Given the description of an element on the screen output the (x, y) to click on. 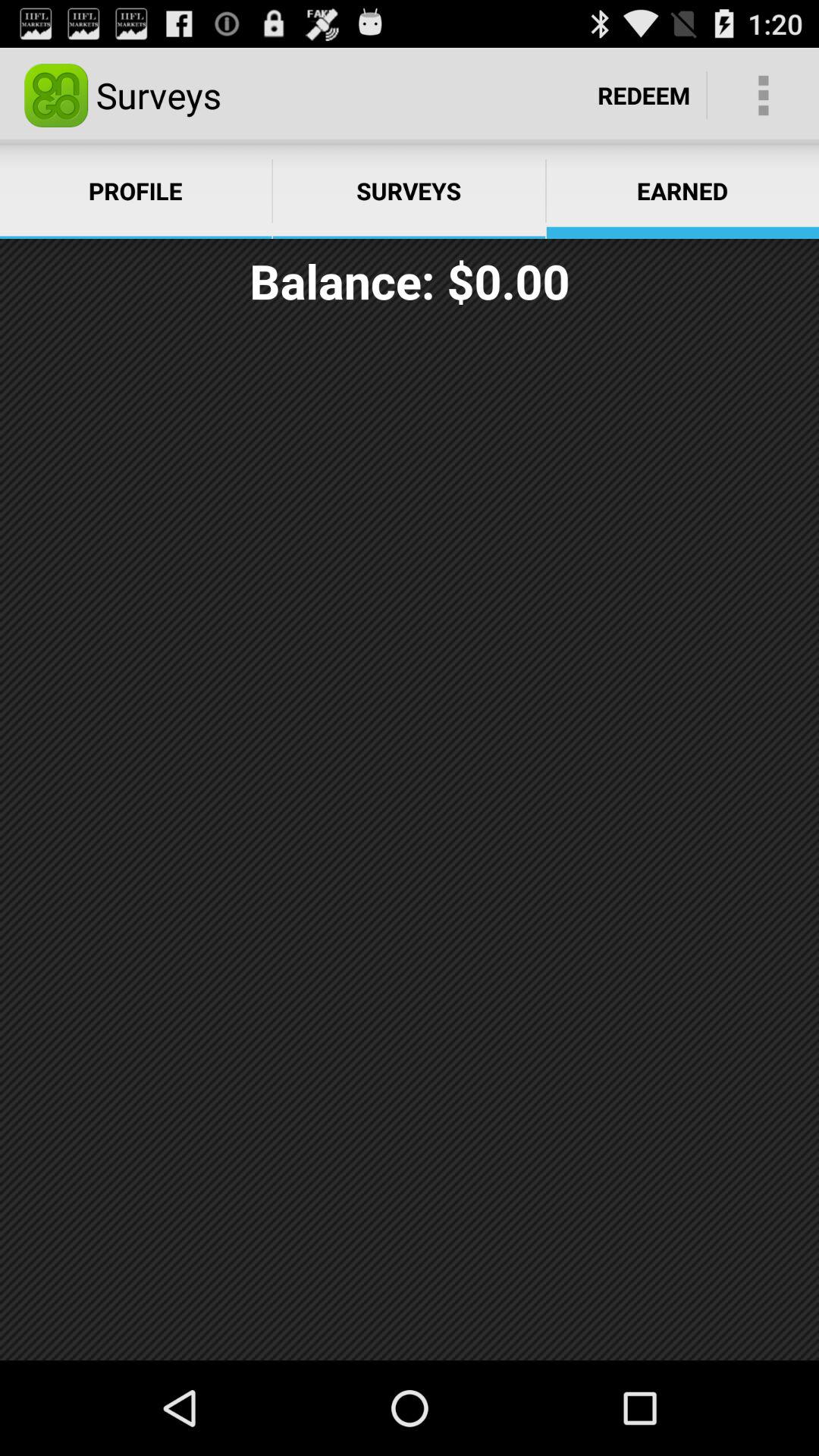
select app to the right of surveys icon (643, 95)
